Given the description of an element on the screen output the (x, y) to click on. 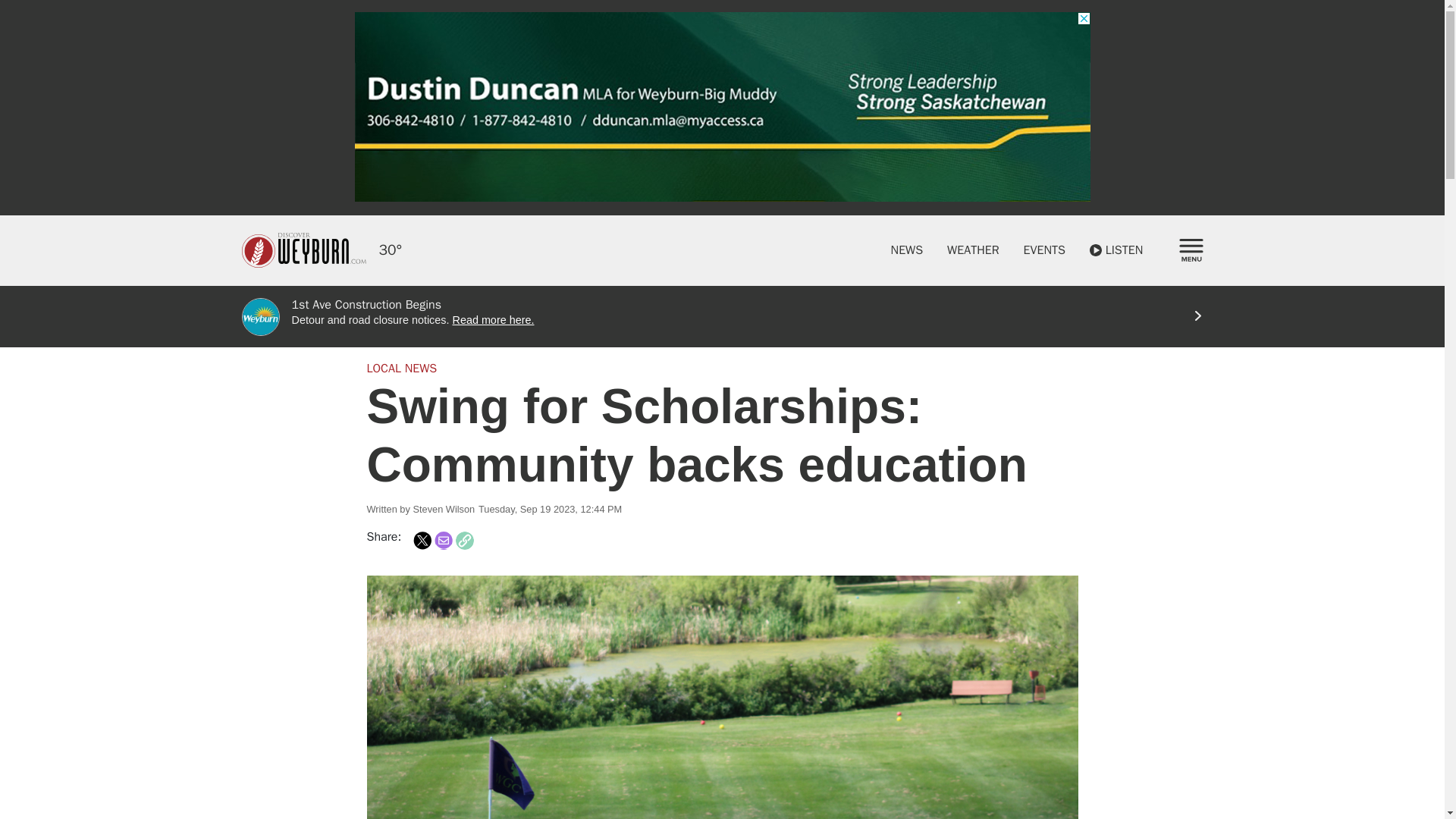
Share to Email (442, 540)
Copy Link (464, 540)
